Given the description of an element on the screen output the (x, y) to click on. 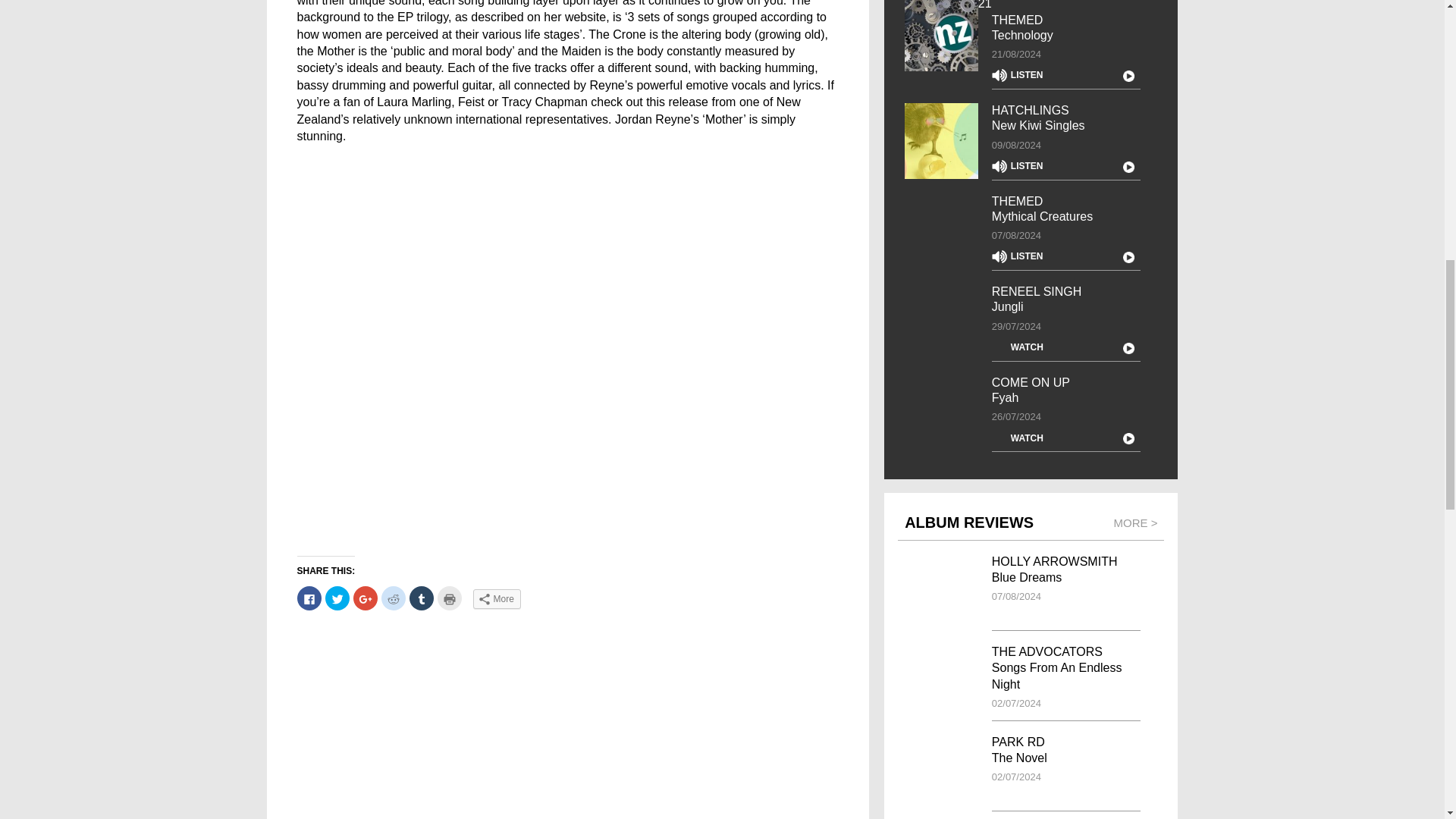
Click to share on Twitter (336, 598)
Click to print (448, 598)
Click to share on Reddit (392, 598)
Click to share on Facebook (309, 598)
Click to share on Tumblr (421, 598)
